Given the description of an element on the screen output the (x, y) to click on. 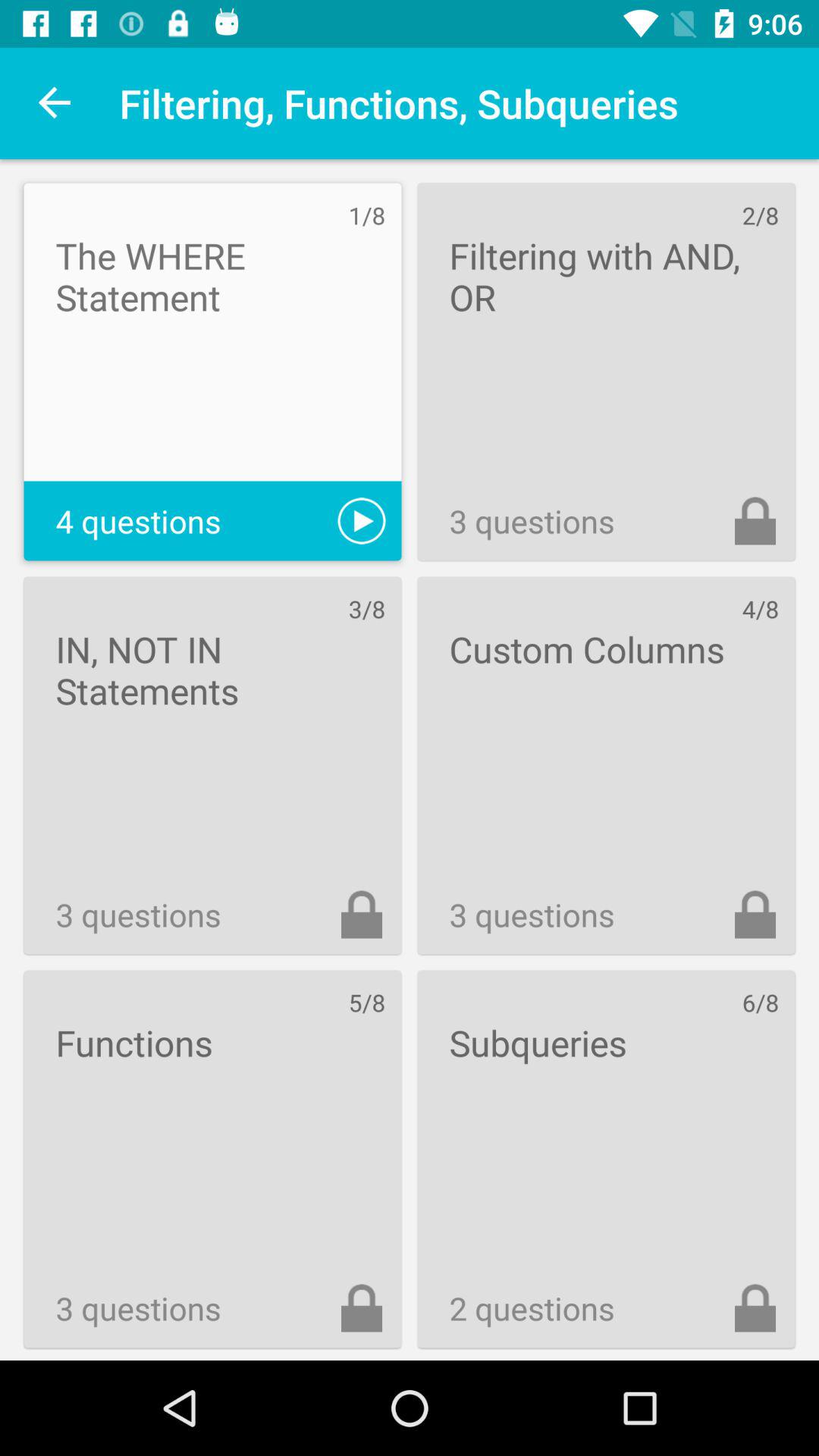
click the item to the left of filtering, functions, subqueries icon (55, 103)
